Given the description of an element on the screen output the (x, y) to click on. 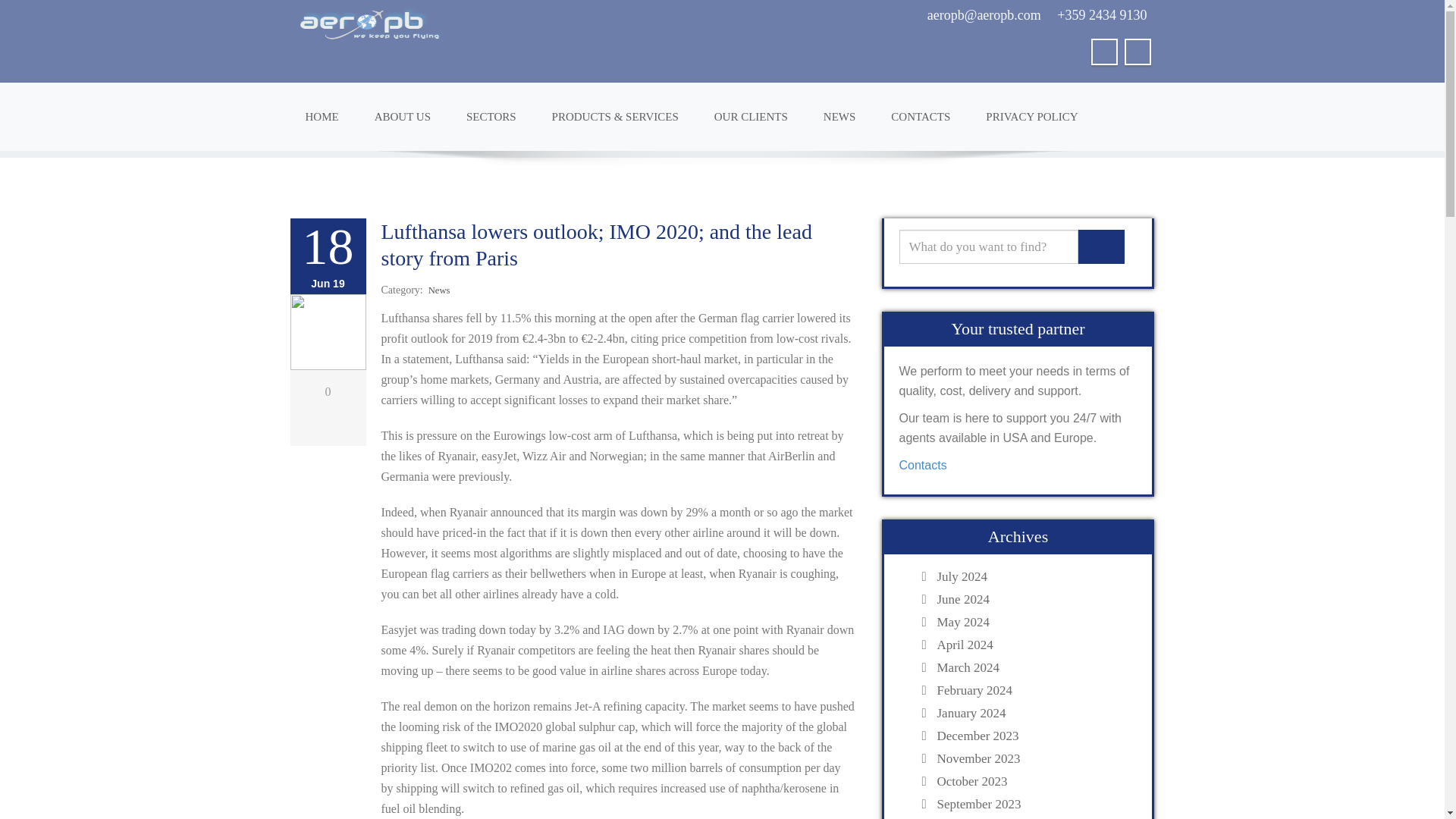
July 2024 (1033, 576)
December 2023 (1033, 735)
PRIVACY POLICY (1032, 116)
CONTACTS (920, 116)
March 2024 (1033, 667)
November 2023 (1033, 758)
September 2023 (1033, 804)
OUR CLIENTS (750, 116)
ABOUT US (402, 116)
February 2024 (1033, 690)
June 2024 (1033, 599)
May 2024 (1033, 622)
NEWS (839, 116)
April 2024 (1033, 645)
HOME (321, 116)
